Given the description of an element on the screen output the (x, y) to click on. 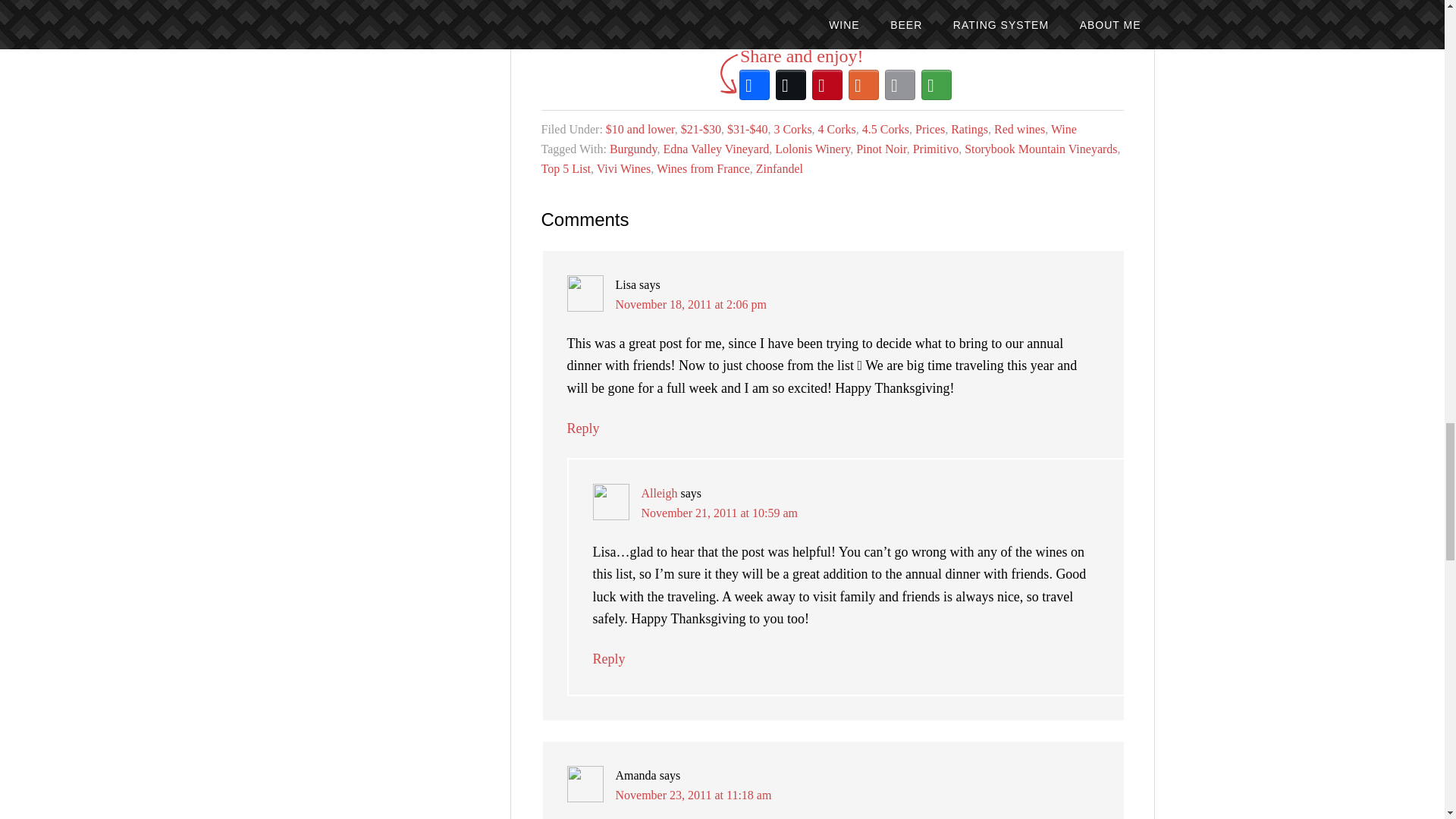
Email This (900, 84)
Yummly (863, 84)
Facebook (754, 84)
Pinterest (827, 84)
